Given the description of an element on the screen output the (x, y) to click on. 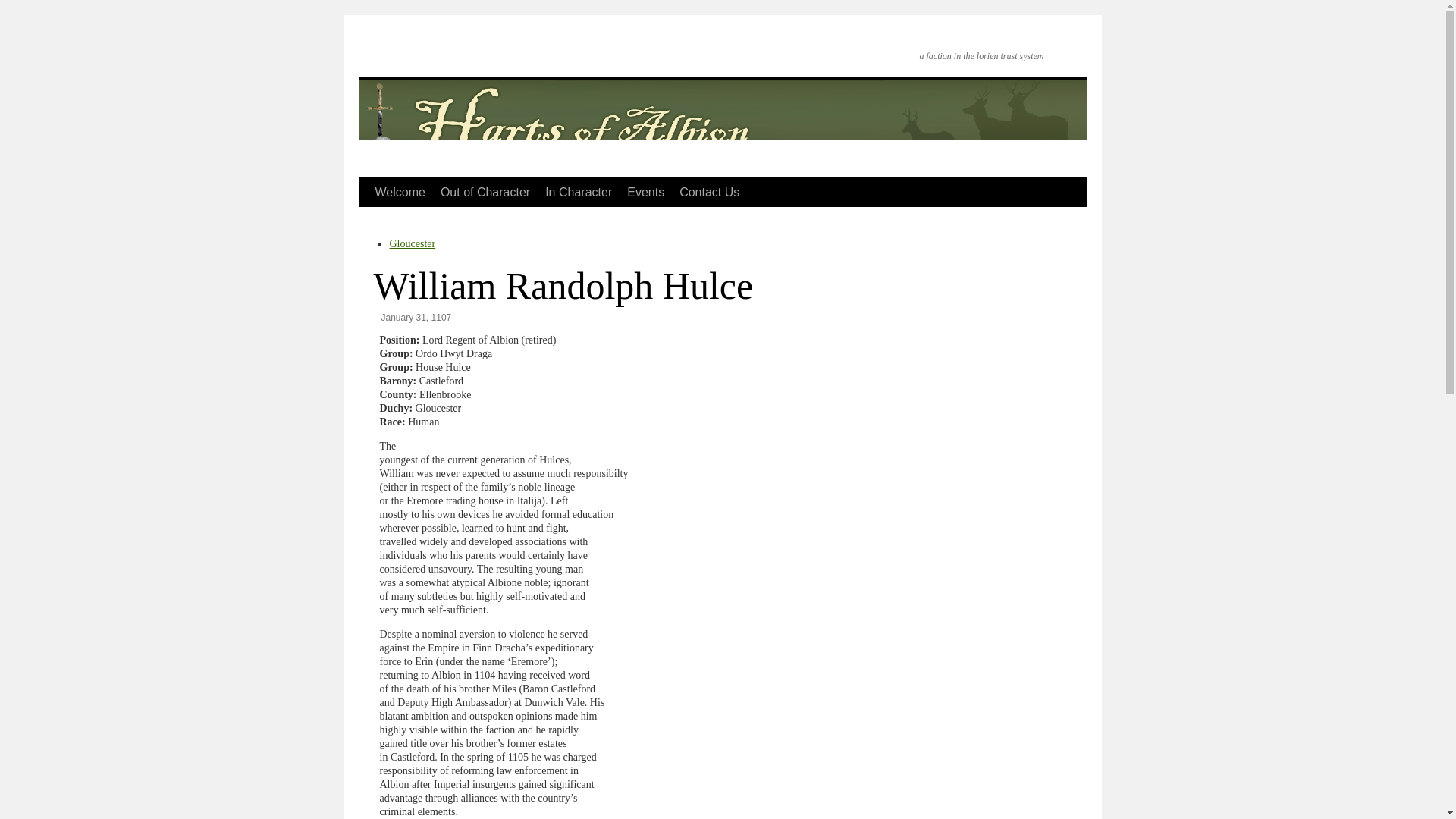
Out of Character (484, 192)
Events (645, 192)
In Character (578, 192)
Contact Us (708, 192)
Gloucester (412, 243)
Welcome (399, 192)
